Given the description of an element on the screen output the (x, y) to click on. 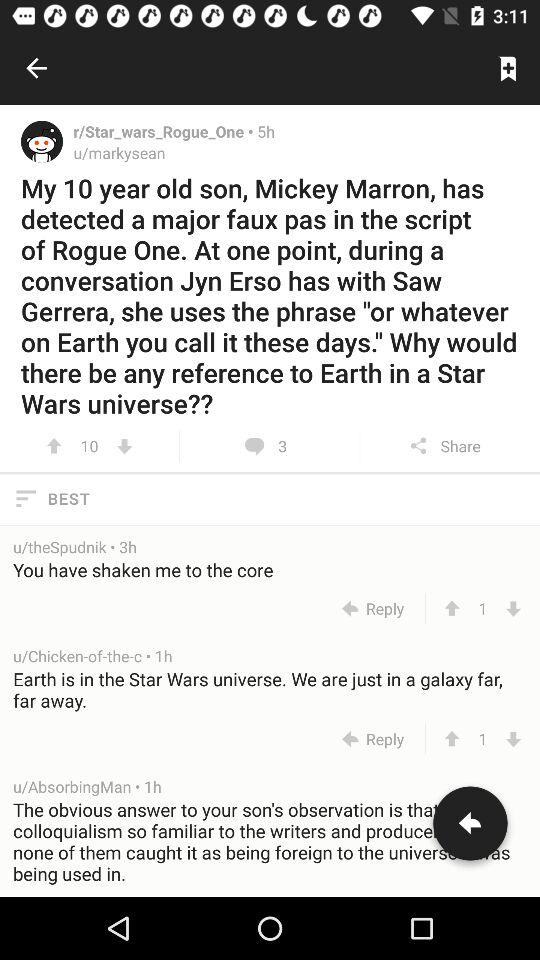
choose the item above my 10 year (508, 67)
